Given the description of an element on the screen output the (x, y) to click on. 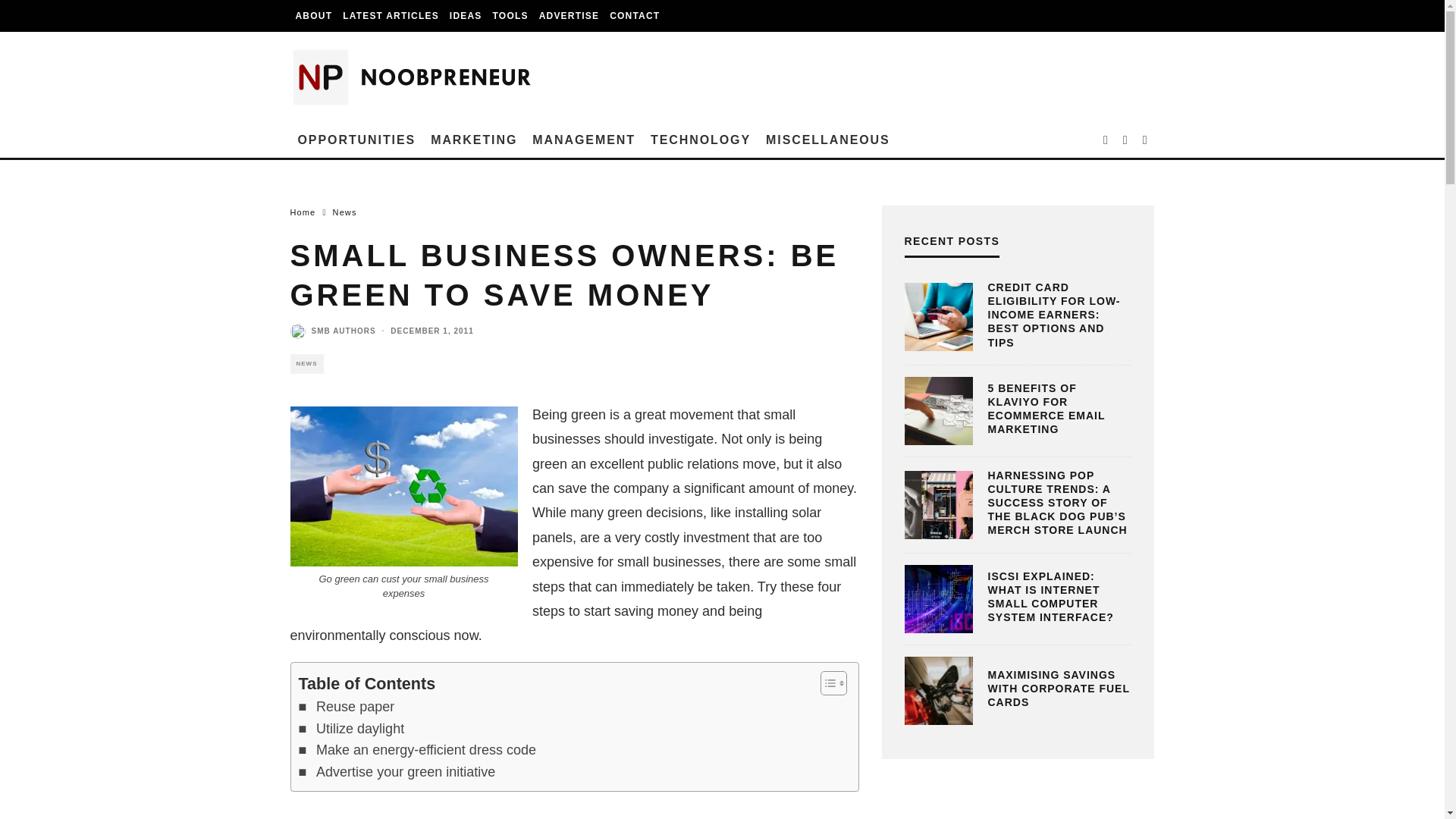
OPPORTUNITIES (356, 140)
Small Business Ideas (465, 15)
Business Management (583, 140)
IDEAS (465, 15)
Business Marketing (473, 140)
Information Technology (700, 140)
Other Business News and Tips (828, 140)
Small Business Apps (510, 15)
ABOUT (313, 15)
Business Opportunities (356, 140)
MARKETING (473, 140)
MANAGEMENT (583, 140)
CONTACT (634, 15)
TOOLS (510, 15)
LATEST ARTICLES (390, 15)
